Given the description of an element on the screen output the (x, y) to click on. 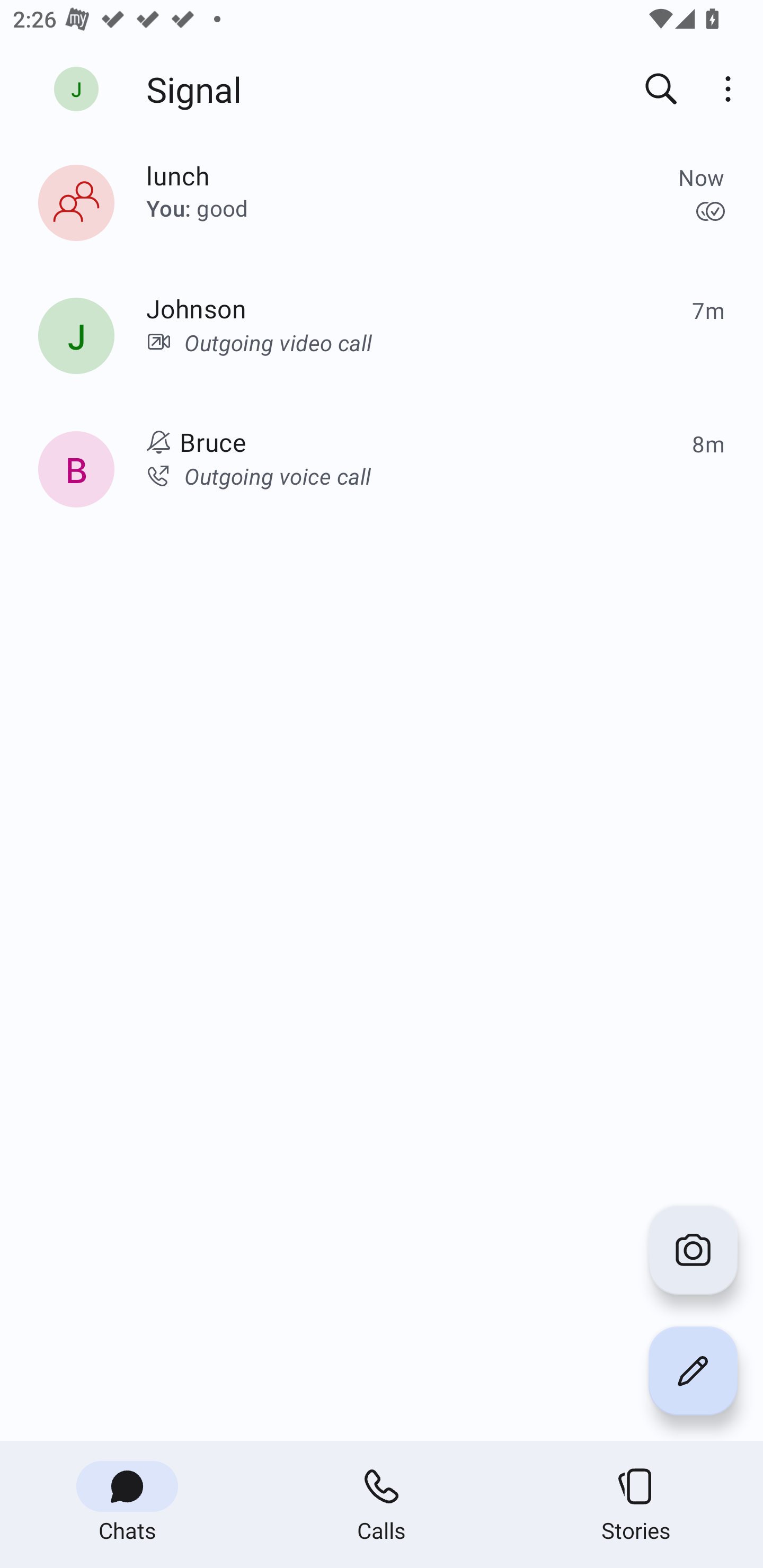
Search (661, 88)
